Given the description of an element on the screen output the (x, y) to click on. 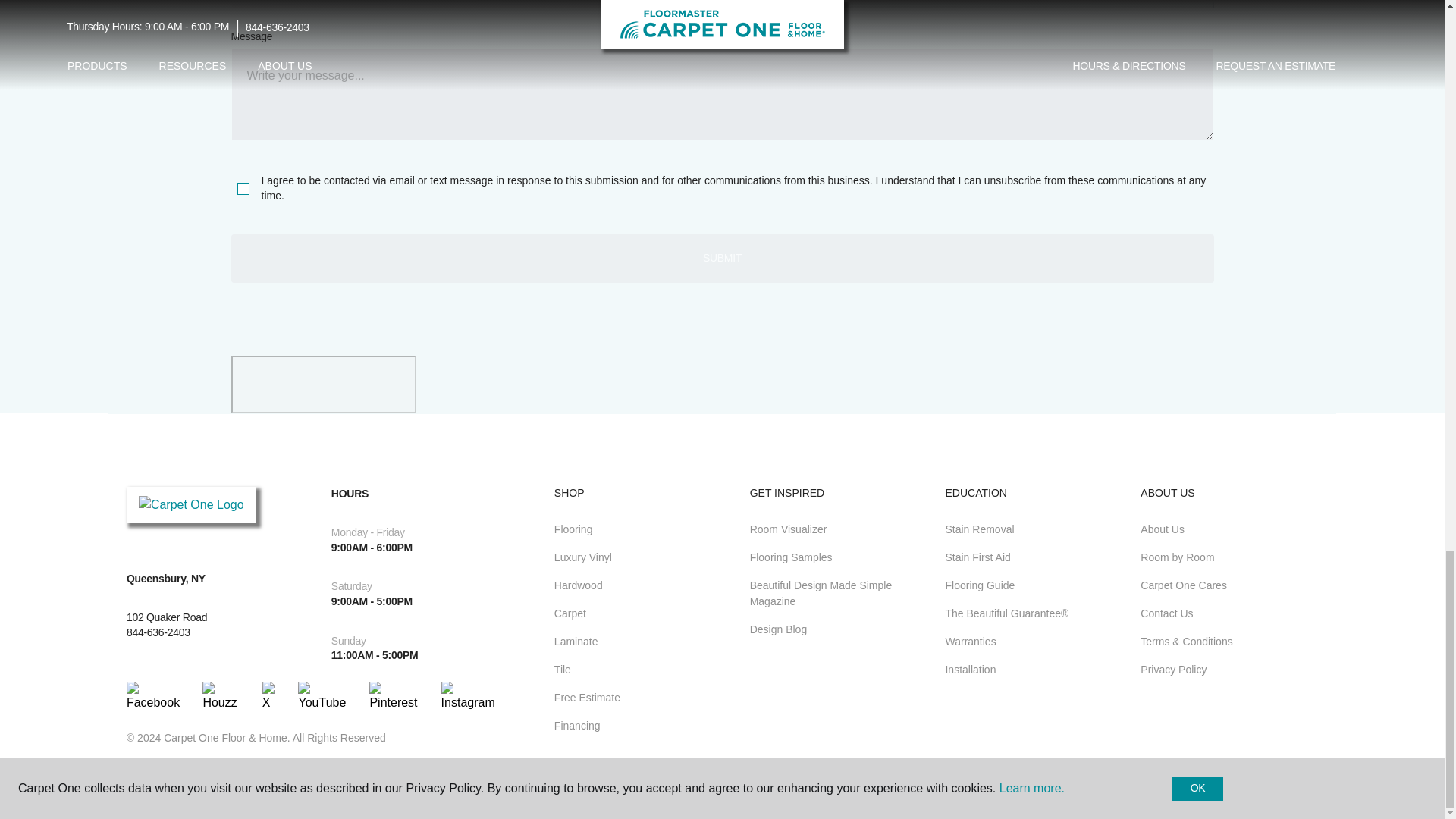
PostalCode (471, 4)
MyMessage (721, 93)
